Given the description of an element on the screen output the (x, y) to click on. 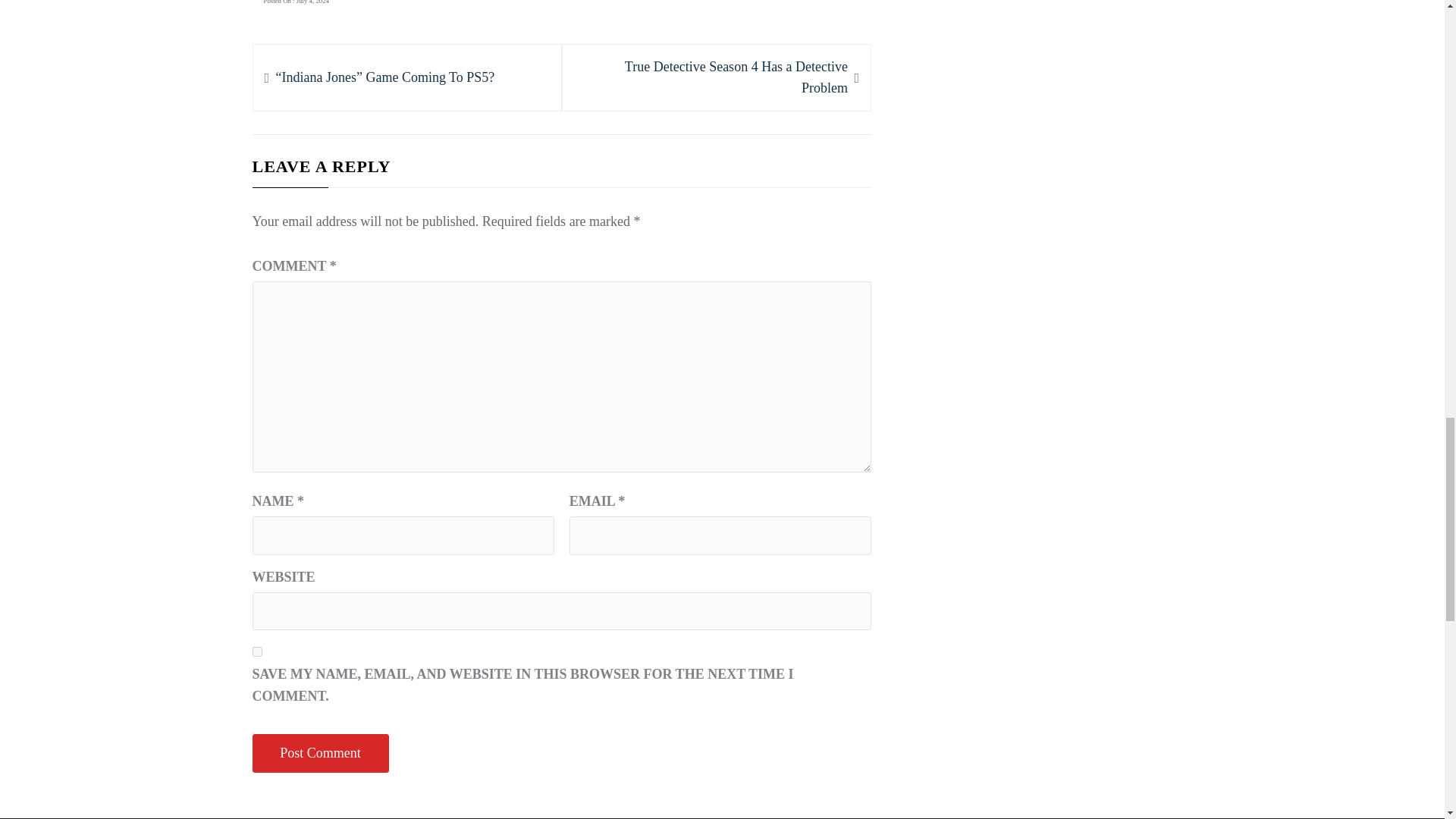
Post Comment (319, 753)
yes (256, 651)
Post Comment (716, 77)
